Given the description of an element on the screen output the (x, y) to click on. 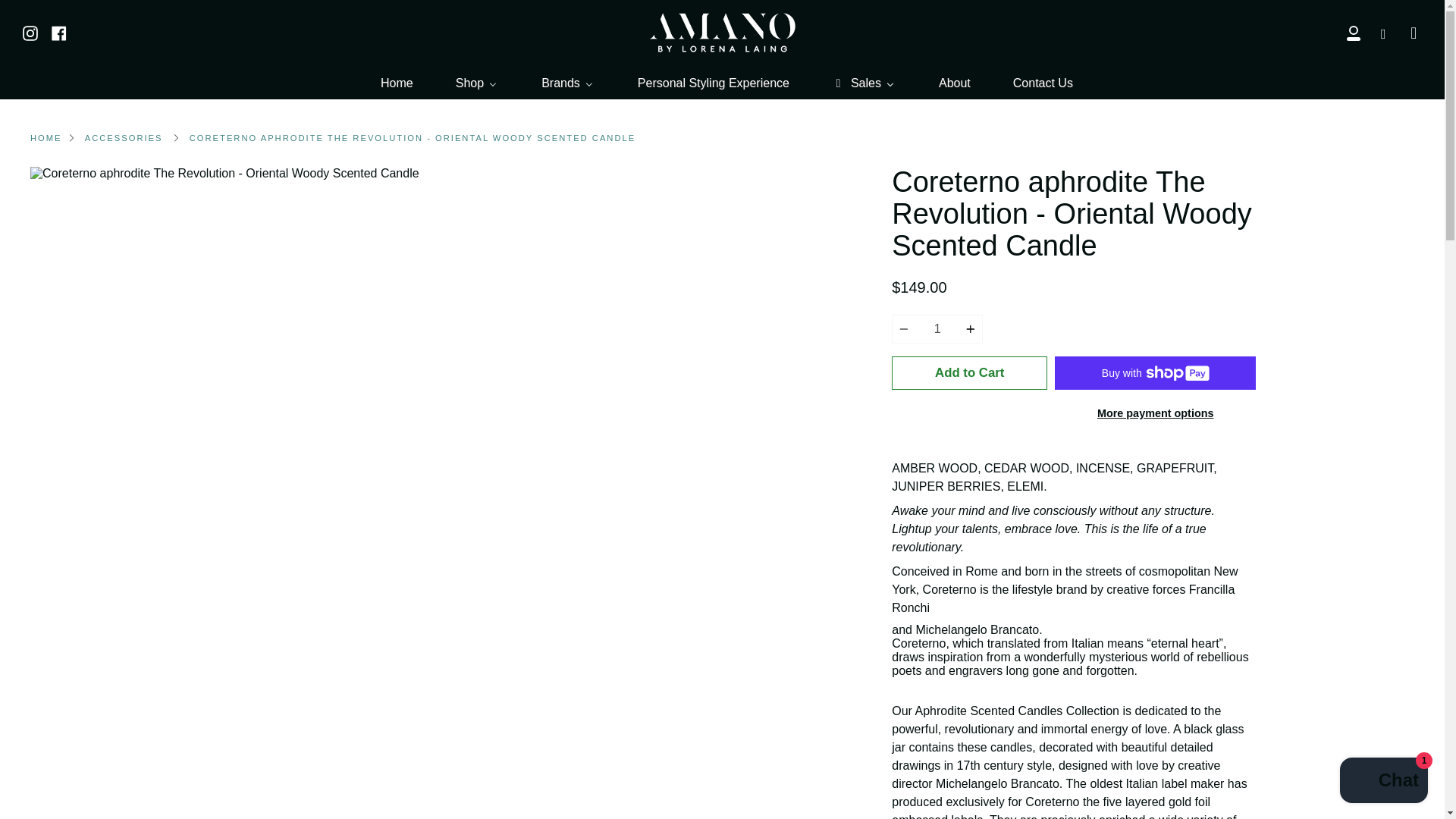
Amano by Lorena Laing on Facebook (58, 31)
Facebook (58, 31)
1 (936, 328)
Amano by Lorena Laing on Instagram (30, 31)
Shopify online store chat (1383, 781)
Instagram (30, 31)
Brands (566, 82)
Shop (475, 82)
Home (396, 82)
